Given the description of an element on the screen output the (x, y) to click on. 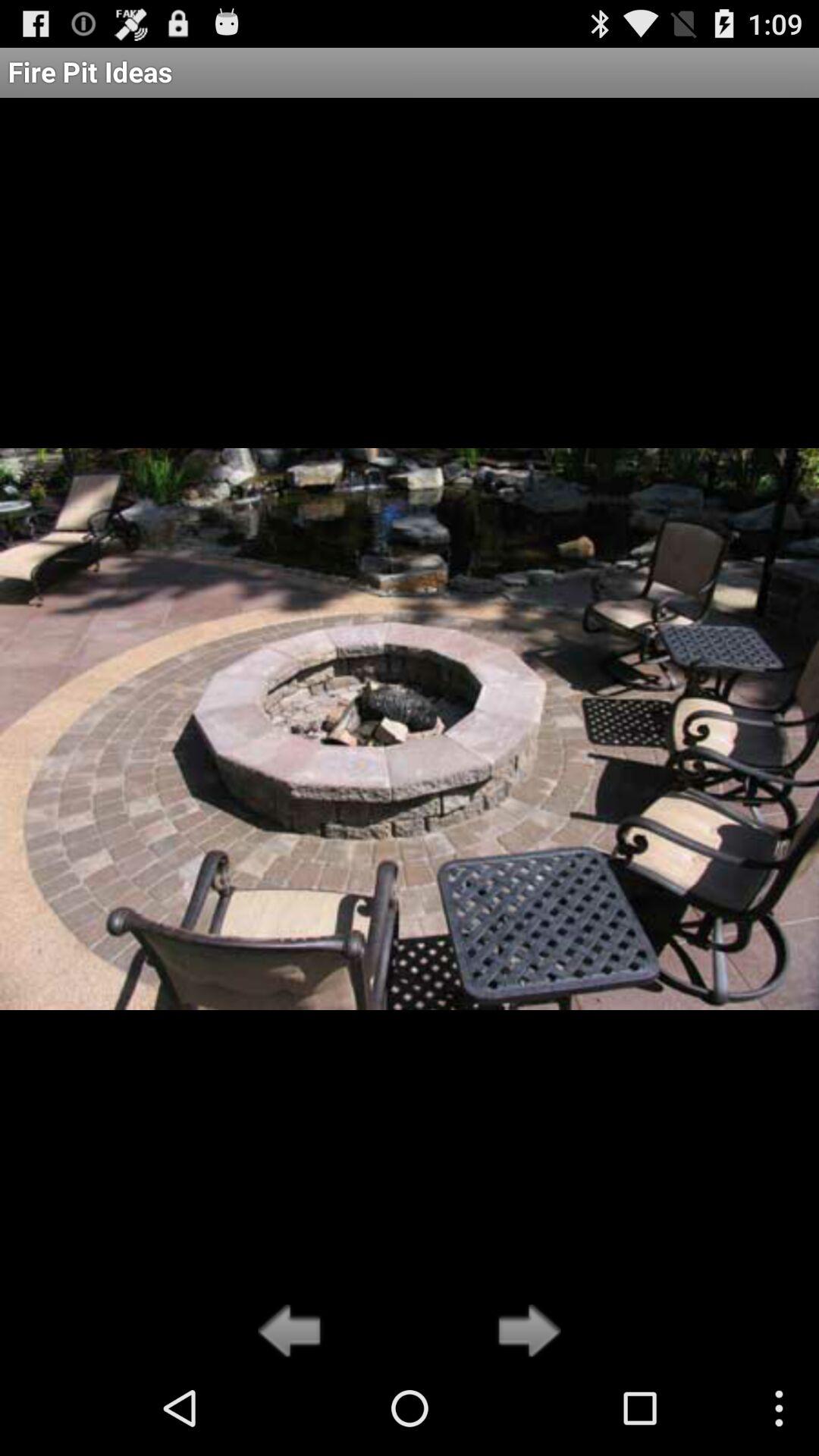
turn on icon below fire pit ideas app (524, 1332)
